Given the description of an element on the screen output the (x, y) to click on. 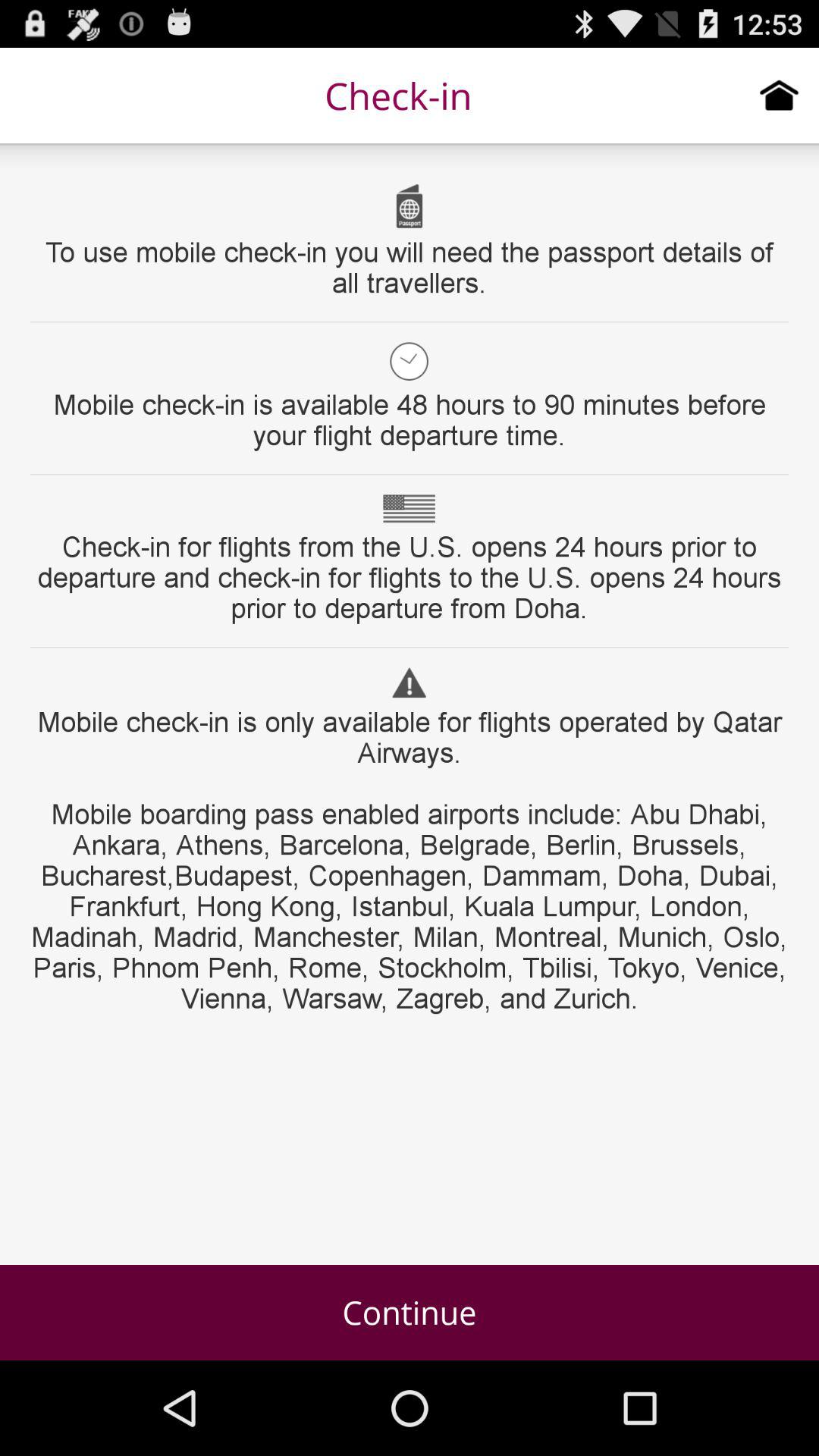
choose item below mobile check in (409, 1312)
